Given the description of an element on the screen output the (x, y) to click on. 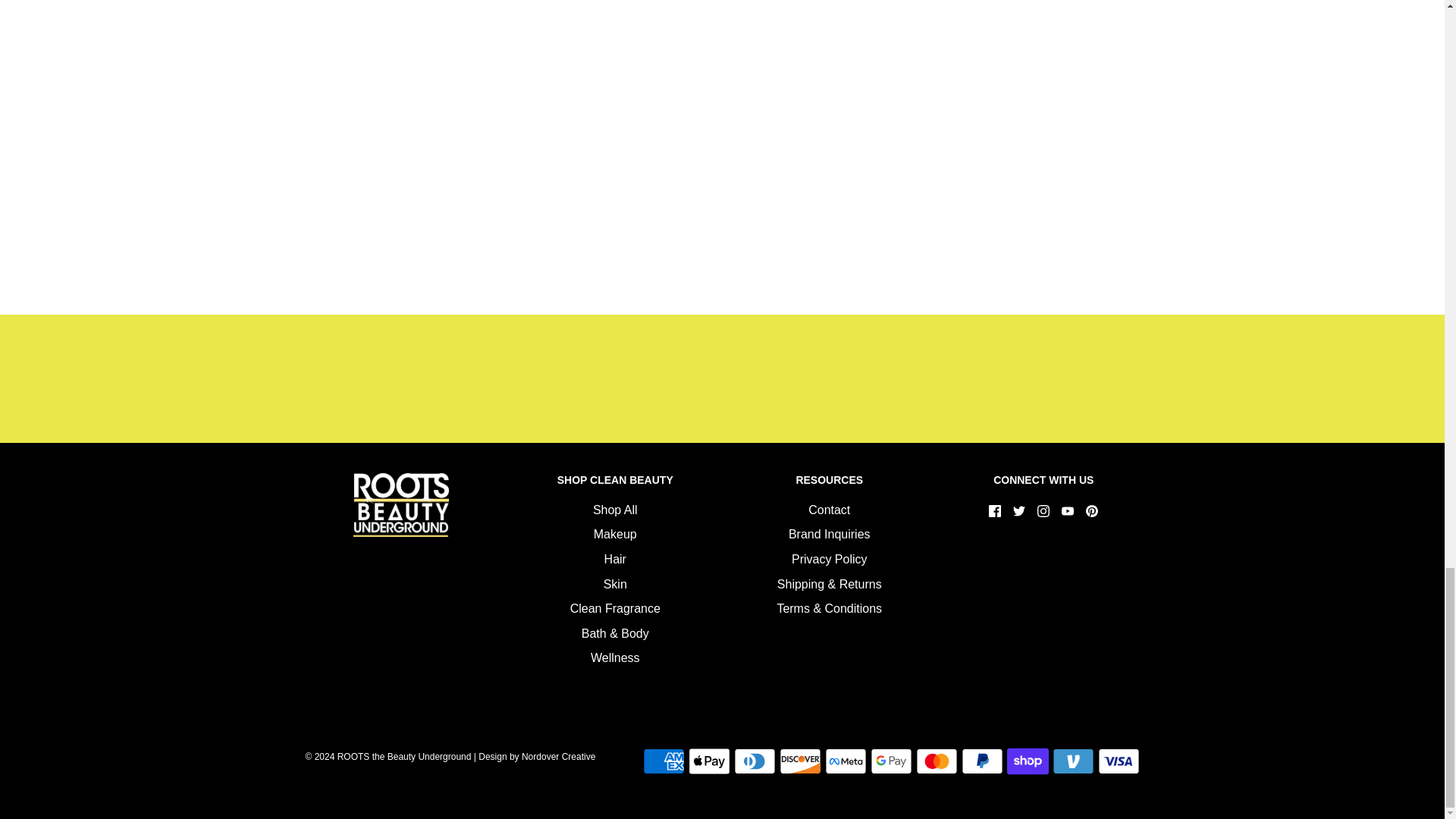
Google Pay (891, 761)
Discover (799, 761)
Instagram icon (1042, 510)
Facebook icon (994, 510)
Meta Pay (845, 761)
YouTube icon (1067, 510)
American Express (663, 761)
Diners Club (754, 761)
Twitter icon (1019, 510)
Pinterest icon (1091, 510)
Apple Pay (709, 761)
Mastercard (936, 761)
